Given the description of an element on the screen output the (x, y) to click on. 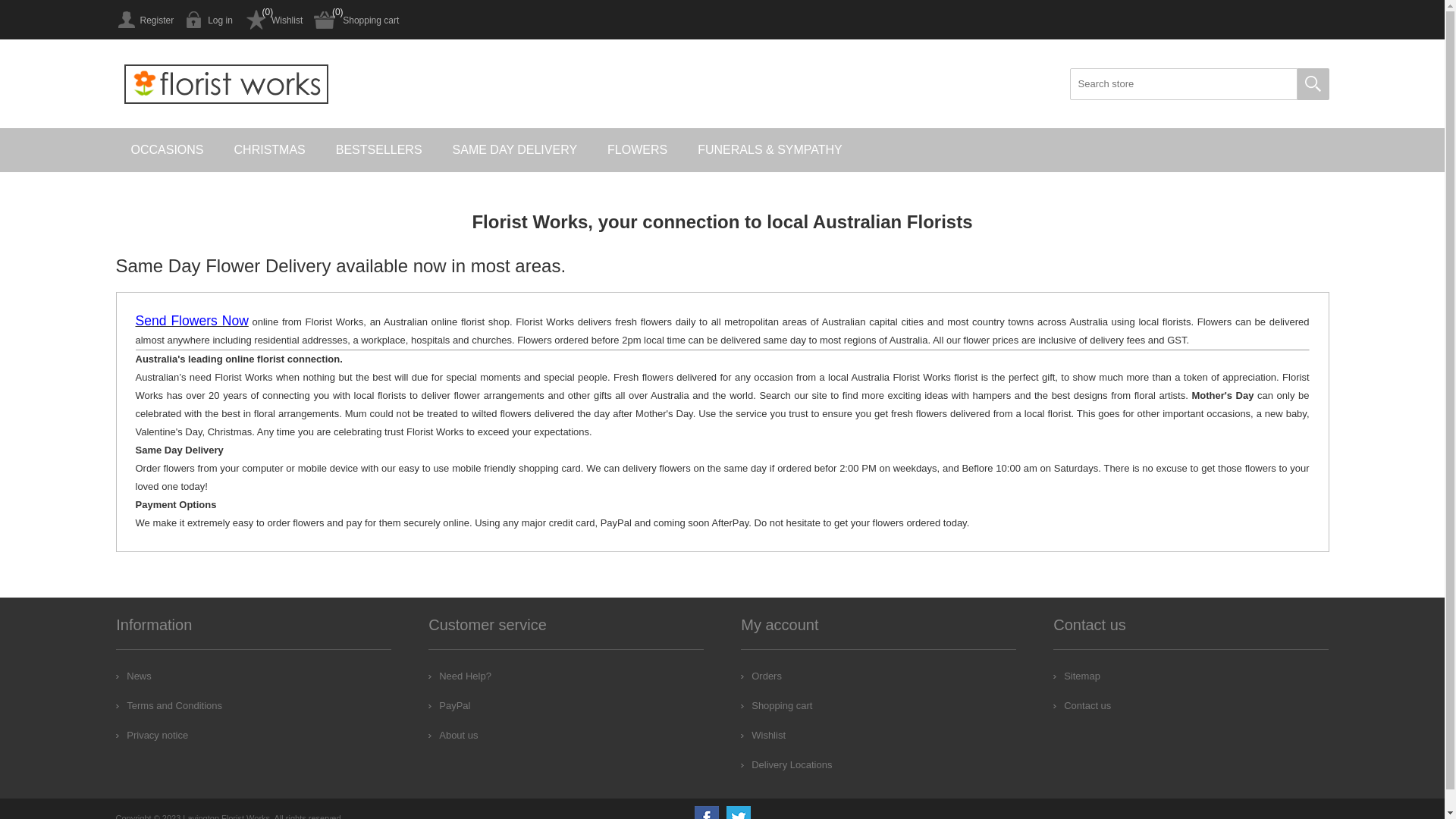
Shopping cart Element type: text (355, 19)
Need Help? Element type: text (459, 675)
About us Element type: text (452, 734)
Shopping cart Element type: text (776, 705)
Privacy notice Element type: text (152, 734)
Wishlist Element type: text (273, 19)
PayPal Element type: text (449, 705)
Register Element type: text (144, 19)
Log in Element type: text (208, 19)
CHRISTMAS Element type: text (269, 150)
Contact us Element type: text (1081, 705)
News Element type: text (133, 675)
Wishlist Element type: text (762, 734)
BESTSELLERS Element type: text (378, 150)
FLOWERS Element type: text (637, 150)
Send Flowers Now Element type: text (190, 321)
OCCASIONS Element type: text (166, 150)
Terms and Conditions Element type: text (169, 705)
FUNERALS & SYMPATHY Element type: text (769, 150)
SAME DAY DELIVERY Element type: text (515, 150)
Search Element type: text (1312, 84)
Orders Element type: text (760, 675)
Delivery Locations Element type: text (785, 764)
Sitemap Element type: text (1076, 675)
